Given the description of an element on the screen output the (x, y) to click on. 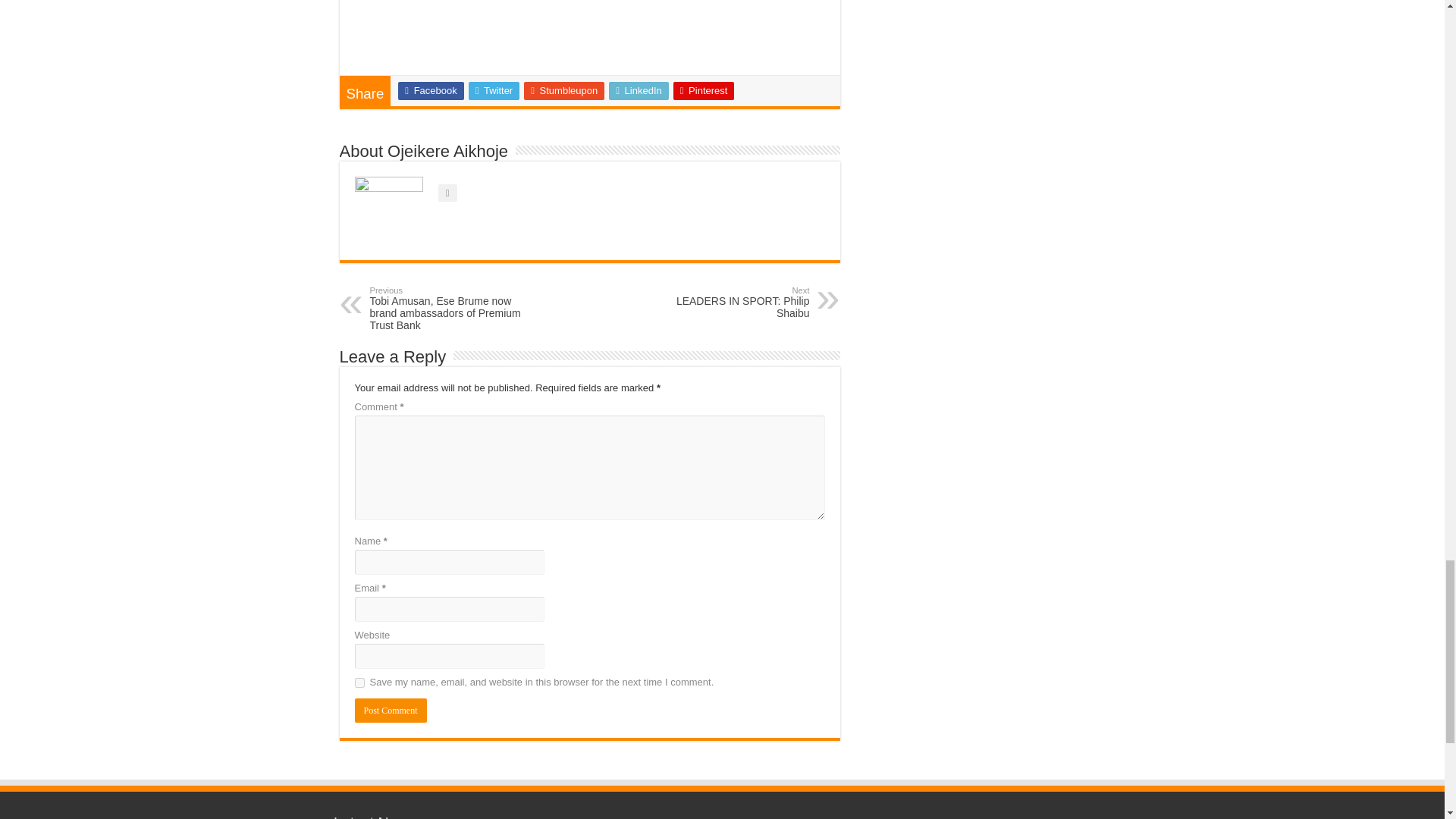
yes (360, 682)
Post Comment (390, 710)
